Given the description of an element on the screen output the (x, y) to click on. 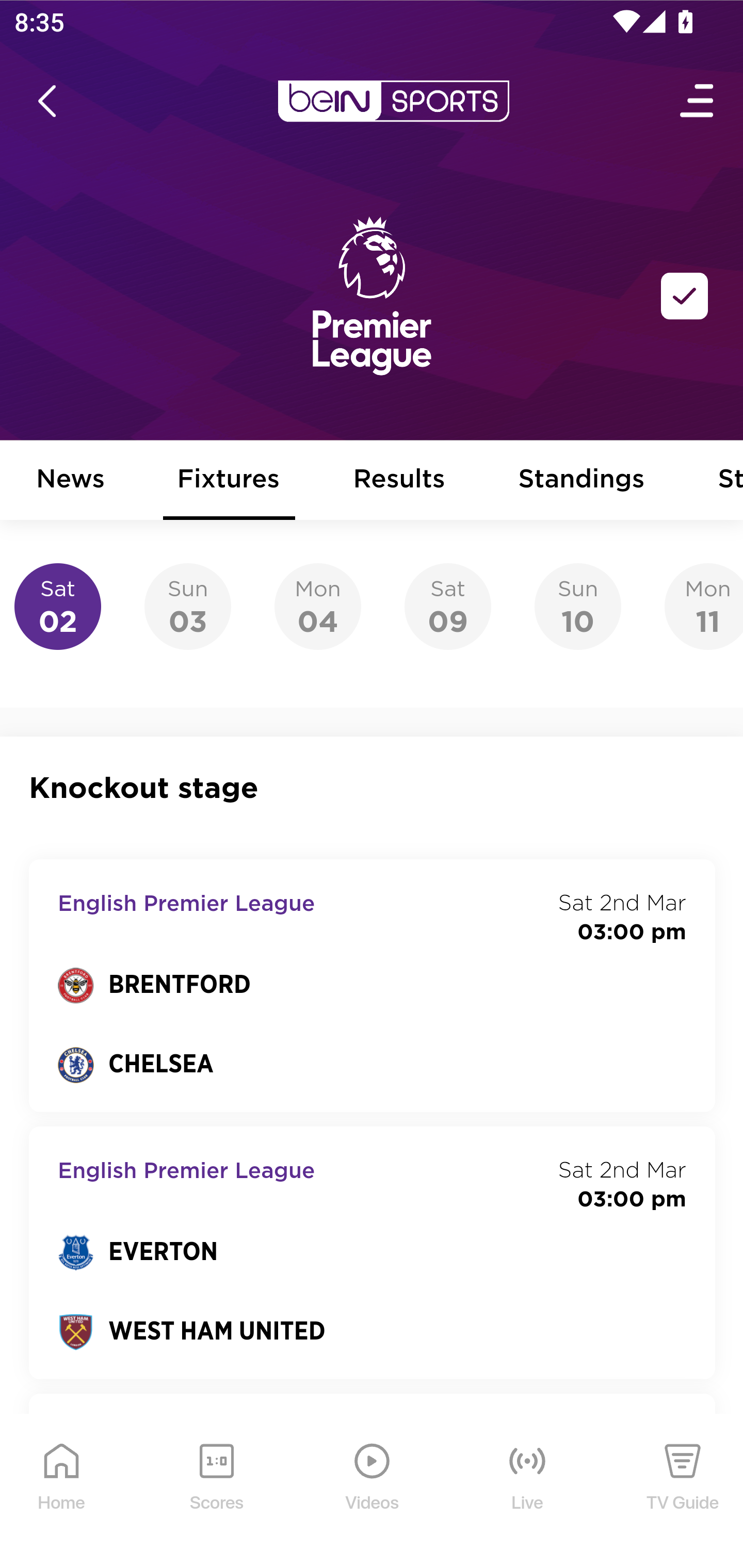
en-us?platform=mobile_android bein logo white (392, 101)
icon back (46, 101)
Open Menu Icon (697, 101)
News (70, 480)
Fixtures (229, 480)
Results (399, 480)
Standings (581, 480)
Sat02 (58, 606)
Sun03 (187, 606)
Mon04 (318, 606)
Sat09 (447, 606)
Sun10 (578, 606)
Mon11 (703, 606)
Knockout stage (372, 787)
Home Home Icon Home (61, 1491)
Scores Scores Icon Scores (216, 1491)
Videos Videos Icon Videos (372, 1491)
TV Guide TV Guide Icon TV Guide (682, 1491)
